Given the description of an element on the screen output the (x, y) to click on. 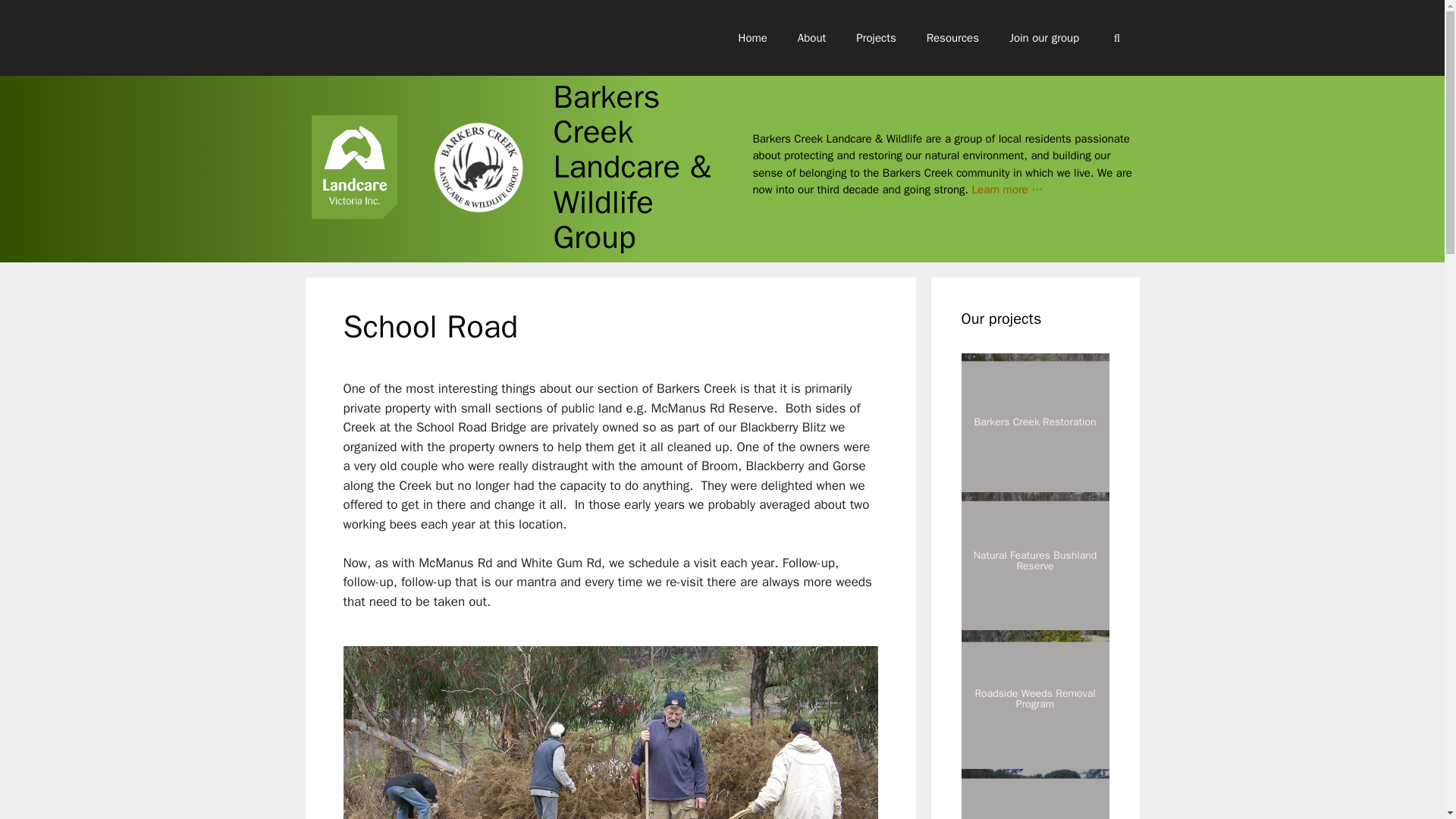
Restoring Old Tip Site in Barkers Creek (1034, 794)
Natural Features Bushland Reserve (1034, 561)
Resources (952, 37)
Roadside Weeds Removal Program (1034, 699)
Home (753, 37)
Projects (876, 37)
What do you mean there is a lot of Gorse? (609, 732)
About (812, 37)
Barkers Creek Restoration (1034, 422)
Join our group (1044, 37)
